Given the description of an element on the screen output the (x, y) to click on. 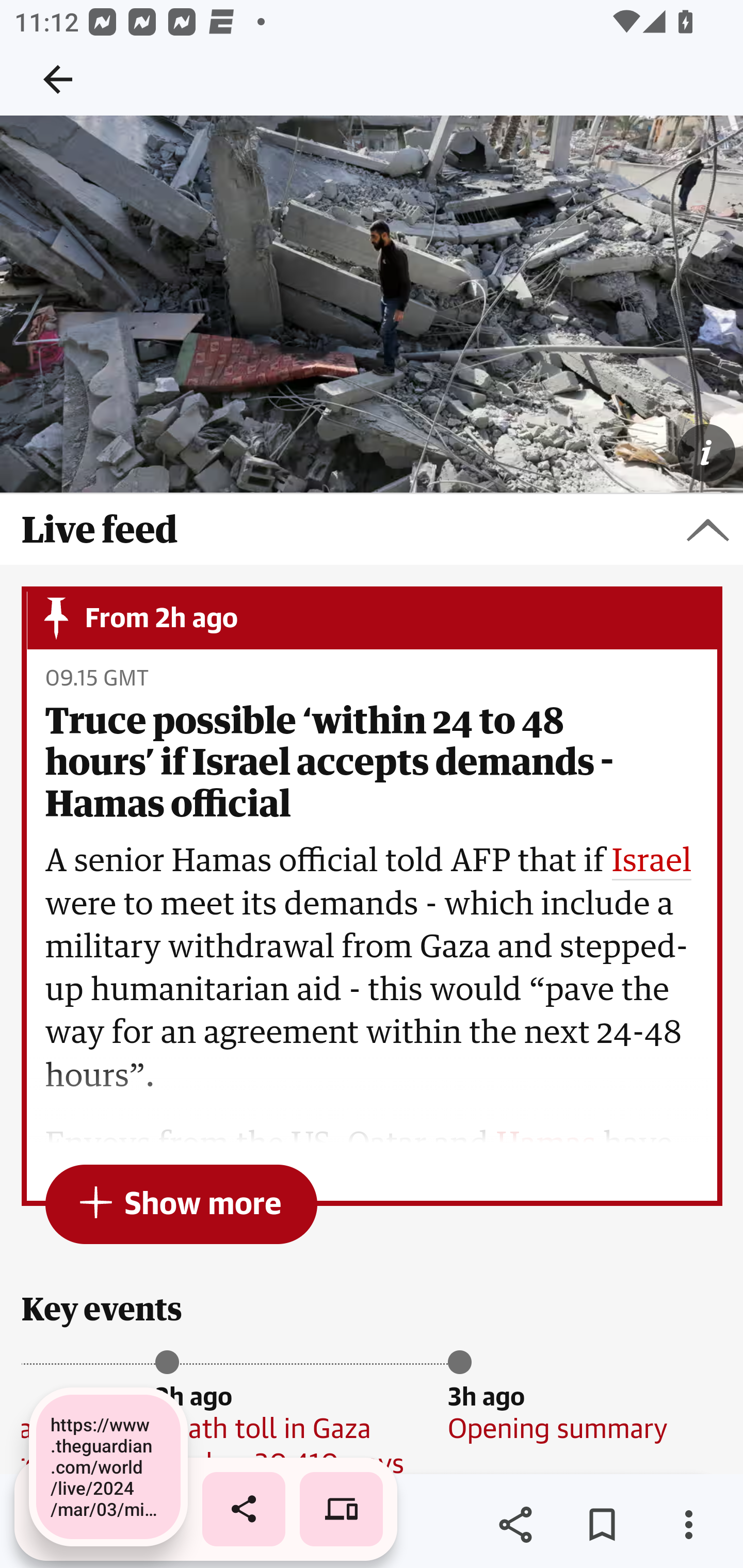
Navigate up (57, 79)
Live feed (371, 529)
09.15 GMT (96, 679)
Israel (651, 862)
Share (514, 1524)
Save for later (601, 1524)
More options (688, 1524)
